Given the description of an element on the screen output the (x, y) to click on. 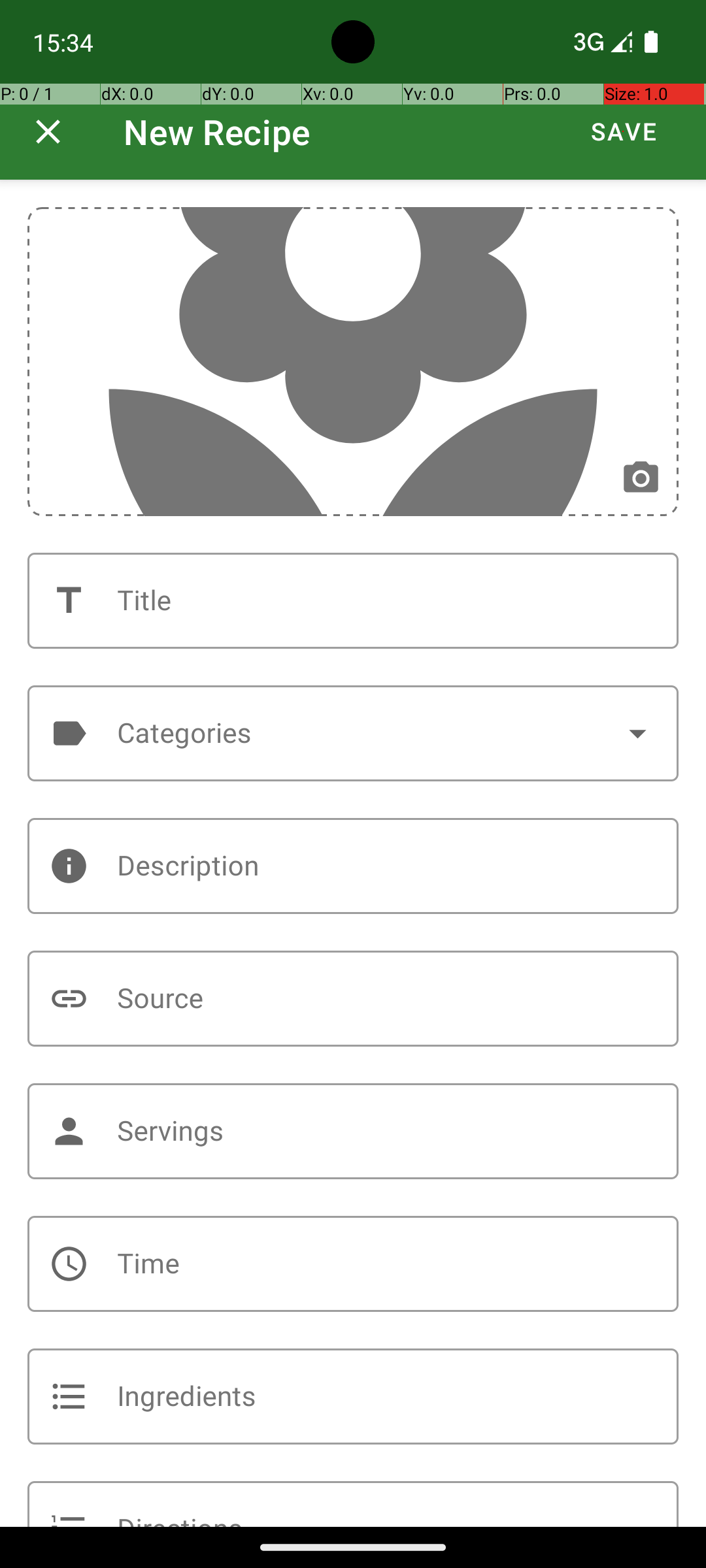
New Recipe Element type: android.widget.TextView (216, 131)
Recipe photo Element type: android.widget.ImageView (352, 361)
Change photo Element type: android.widget.ImageView (640, 478)
Title Element type: android.widget.EditText (352, 600)
Categories Element type: android.widget.EditText (352, 733)
Description Element type: android.widget.EditText (352, 865)
Source Element type: android.widget.EditText (352, 998)
Servings Element type: android.widget.EditText (352, 1131)
Ingredients Element type: android.widget.EditText (352, 1396)
Directions Element type: android.widget.EditText (352, 1503)
